Given the description of an element on the screen output the (x, y) to click on. 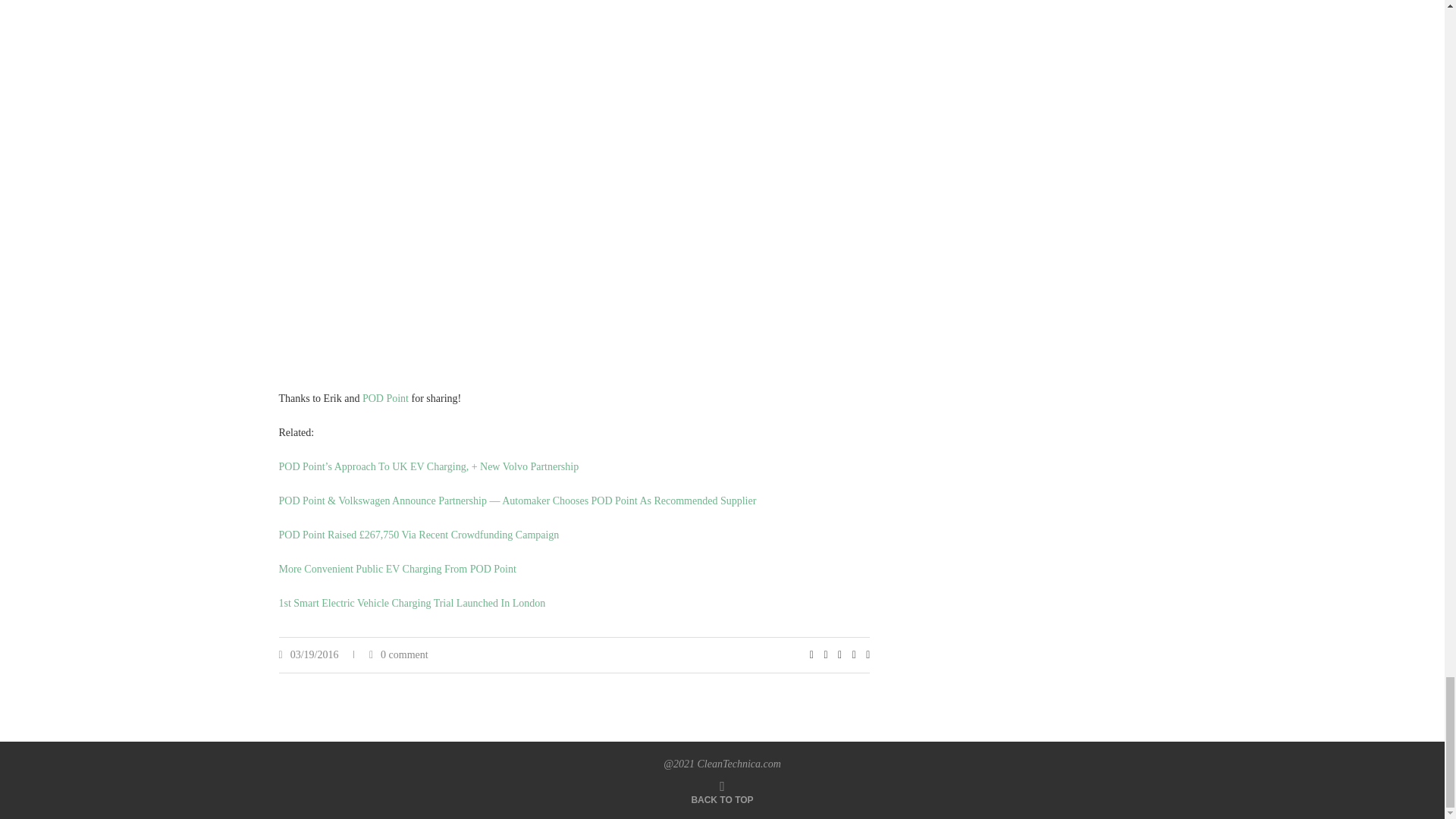
1st Smart Electric Vehicle Charging Trial Launched In London (412, 603)
POD Point (385, 398)
More Convenient Public EV Charging From POD Point (397, 568)
